Given the description of an element on the screen output the (x, y) to click on. 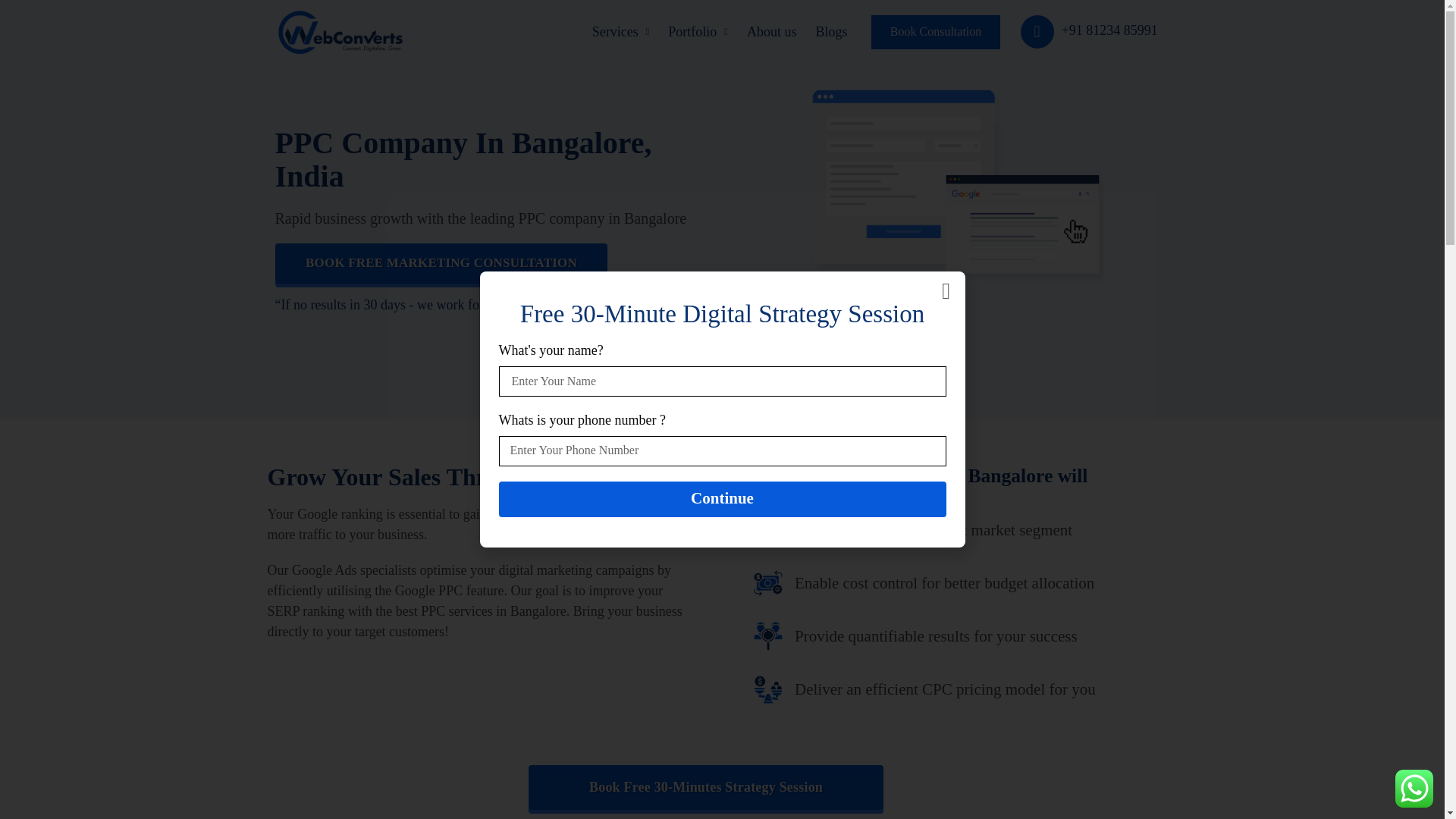
Portfolio (697, 32)
Services (620, 32)
About us (771, 32)
Blogs (830, 32)
Book Consultation (935, 32)
